Given the description of an element on the screen output the (x, y) to click on. 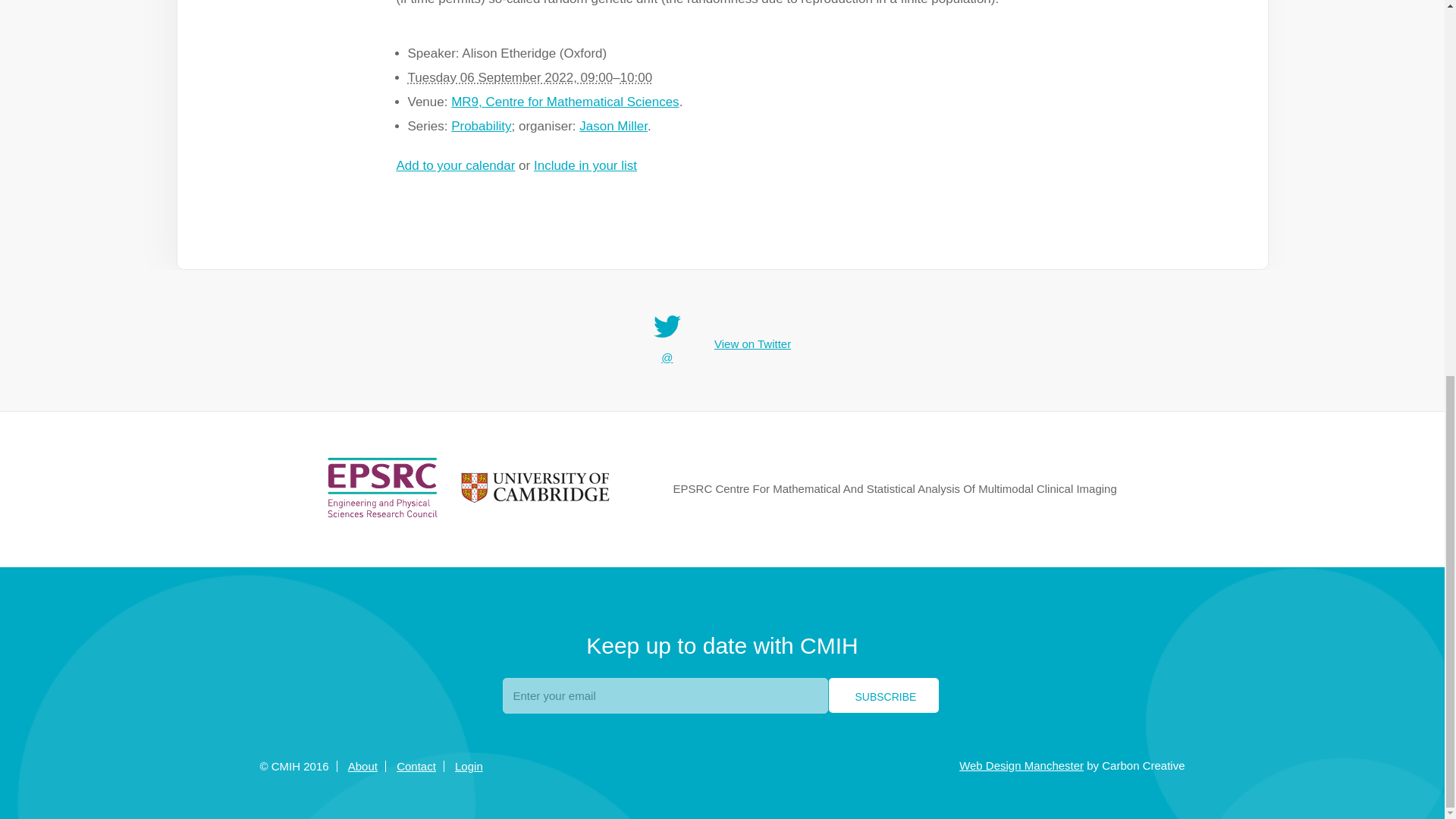
Probability (481, 125)
MR9, Centre for Mathematical Sciences (564, 101)
Include in your list (585, 165)
Contact (415, 766)
Subscribe (882, 695)
About (362, 766)
Jason Miller (613, 125)
View on Twitter (752, 343)
20220906T100000 (636, 77)
Subscribe (882, 695)
Add to your calendar (455, 165)
20220906T090000 (509, 77)
